Given the description of an element on the screen output the (x, y) to click on. 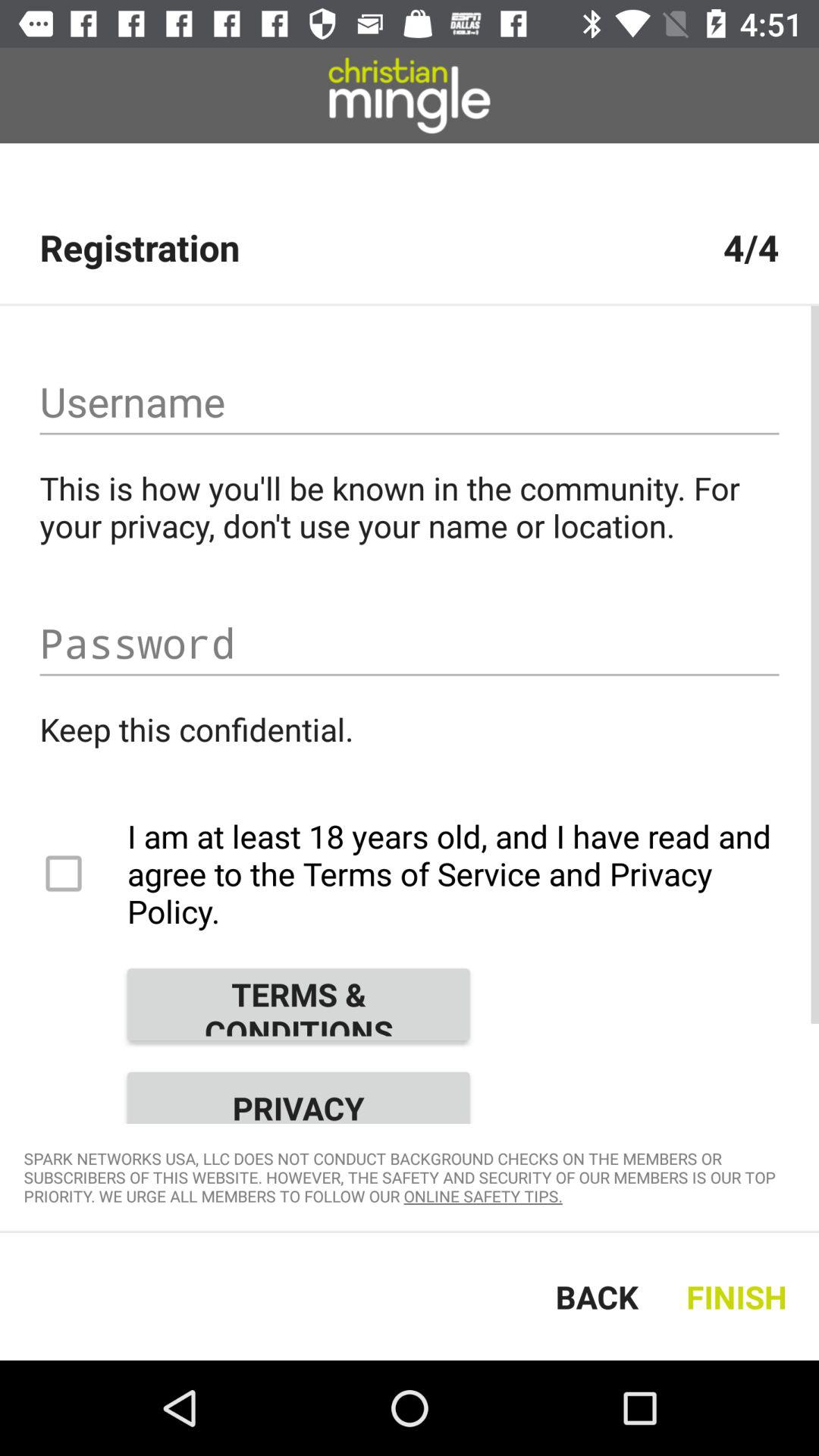
turn on the item above privacy (298, 1004)
